Given the description of an element on the screen output the (x, y) to click on. 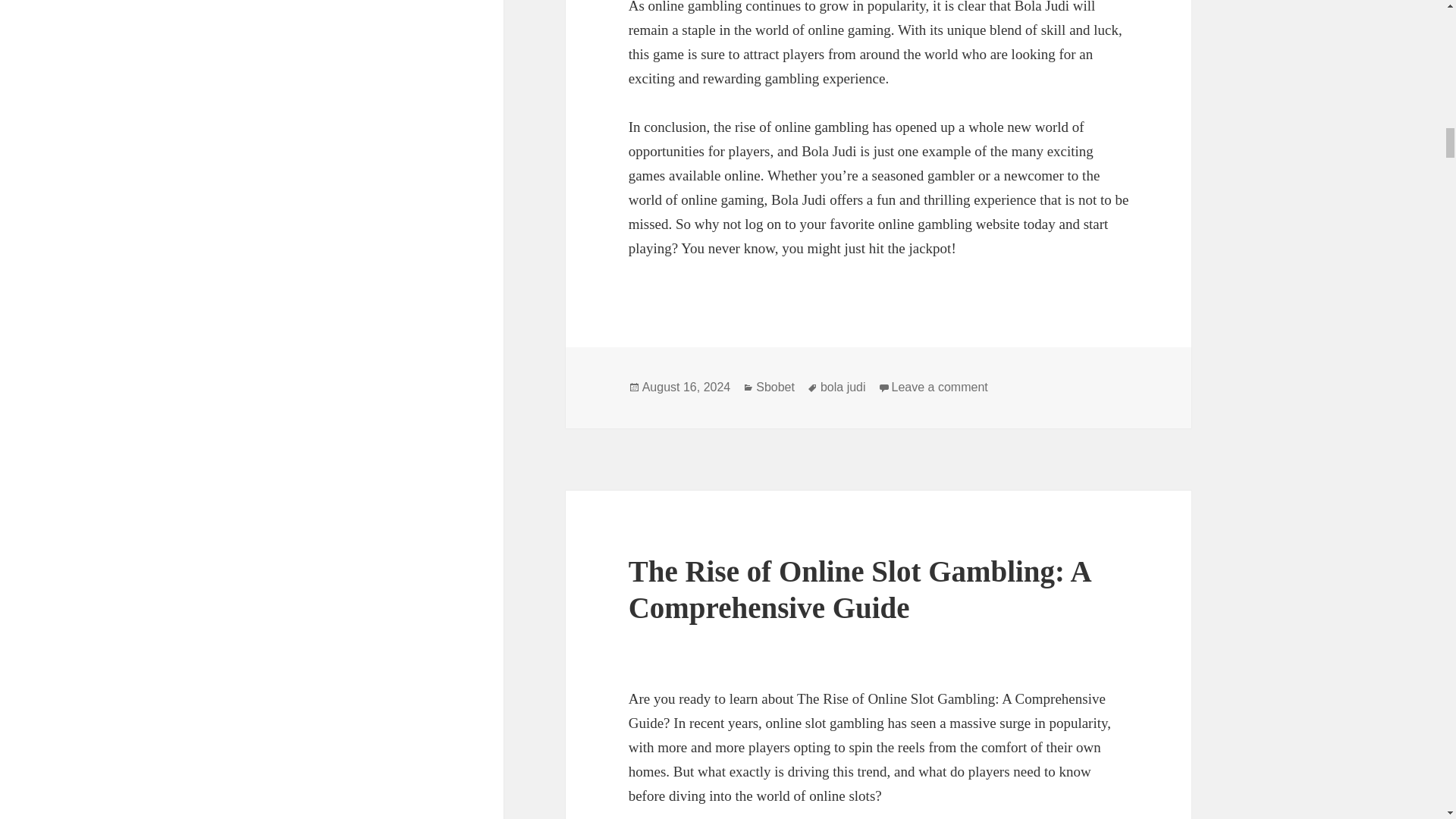
bola judi (843, 386)
Sbobet (774, 386)
The Rise of Online Slot Gambling: A Comprehensive Guide (859, 589)
August 16, 2024 (686, 386)
